Given the description of an element on the screen output the (x, y) to click on. 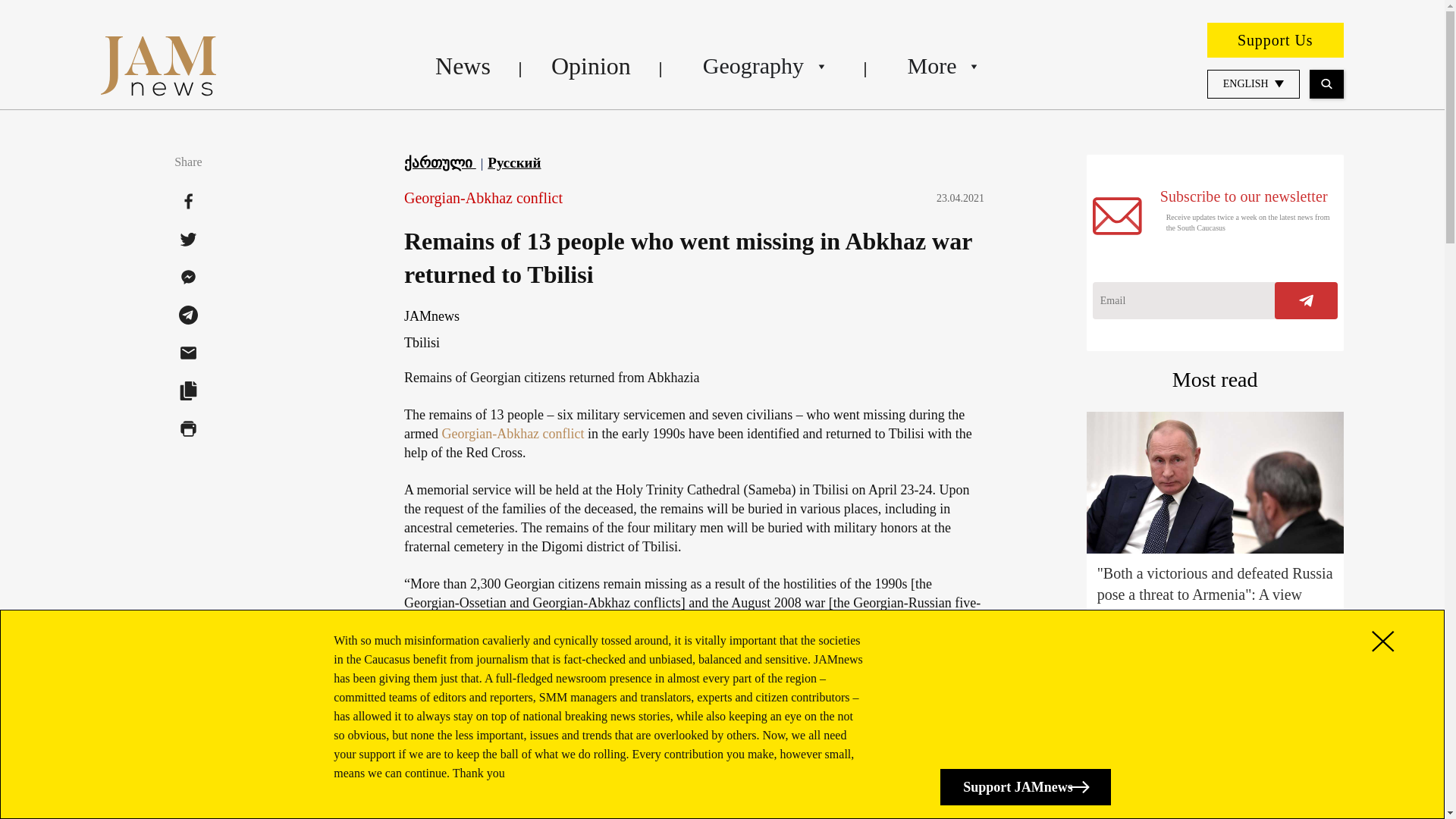
Opinion (591, 65)
Geography (763, 65)
More (942, 65)
News (462, 65)
Support Us (1275, 39)
